Given the description of an element on the screen output the (x, y) to click on. 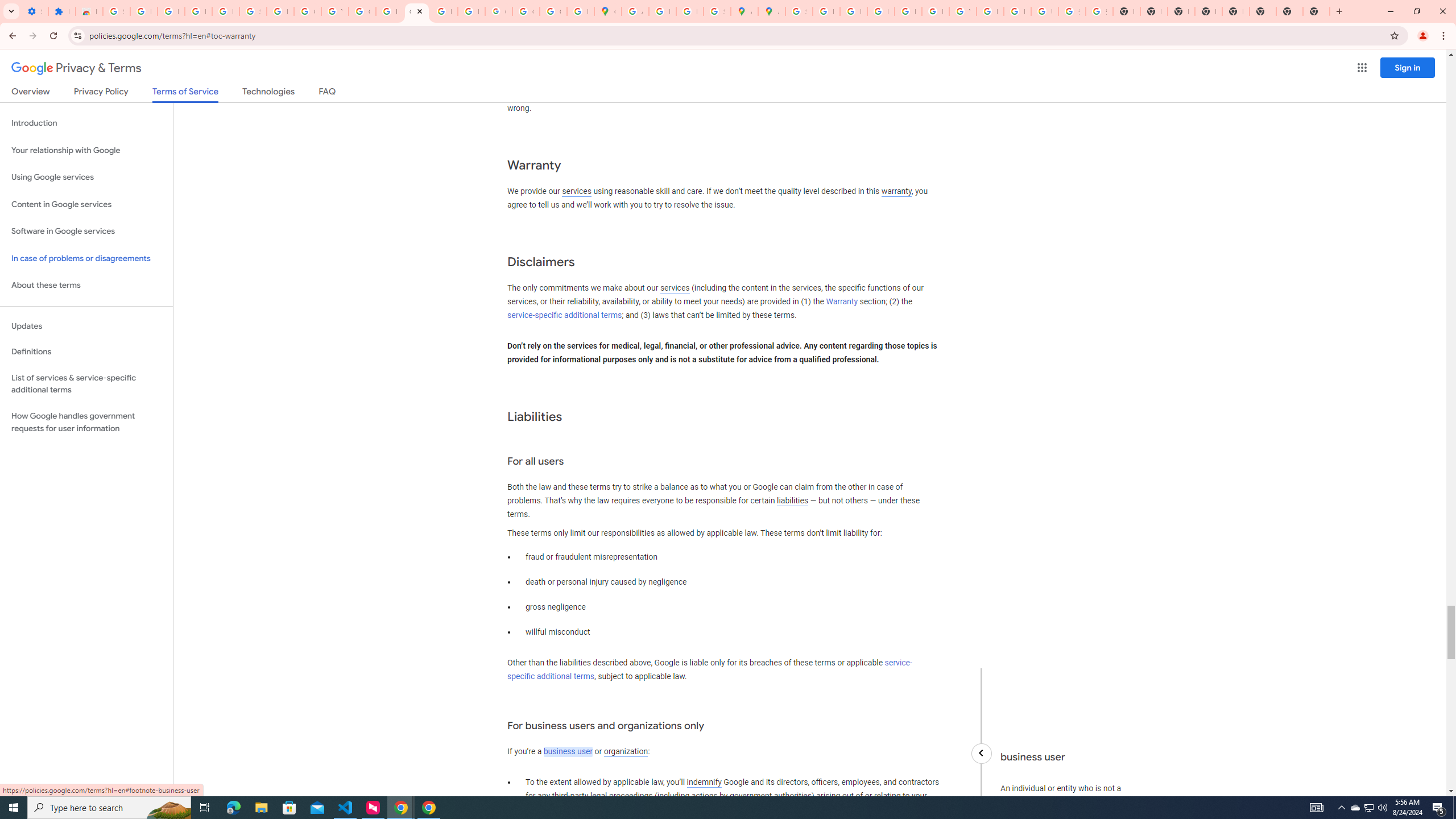
Sign in - Google Accounts (116, 11)
Reviews: Helix Fruit Jump Arcade Game (88, 11)
YouTube (962, 11)
Safety in Our Products - Google Safety Center (716, 11)
